Given the description of an element on the screen output the (x, y) to click on. 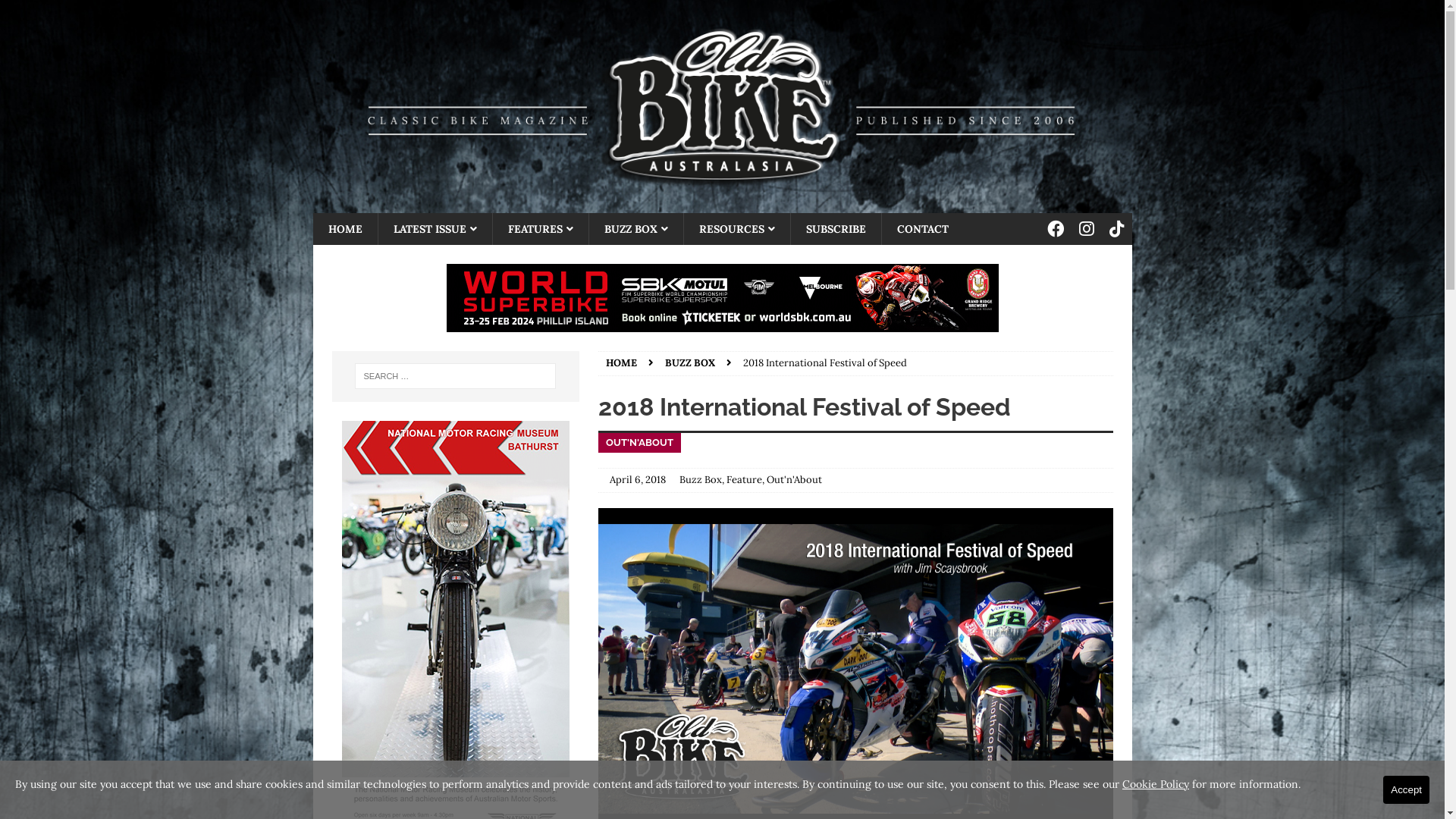
Feature Element type: text (744, 479)
CONTACT Element type: text (922, 228)
Cookie Policy Element type: text (1155, 783)
Buzz Box Element type: text (700, 479)
BUZZ BOX Element type: text (690, 362)
April 6, 2018 Element type: text (637, 479)
LATEST ISSUE Element type: text (434, 228)
FEATURES Element type: text (539, 228)
Out'n'About Element type: text (794, 479)
HOME Element type: text (344, 228)
3rd party ad content Element type: hover (721, 297)
RESOURCES Element type: text (735, 228)
HOME Element type: text (621, 362)
Search Element type: text (56, 11)
Accept Element type: text (1406, 789)
BUZZ BOX Element type: text (635, 228)
SUBSCRIBE Element type: text (835, 228)
